Given the description of an element on the screen output the (x, y) to click on. 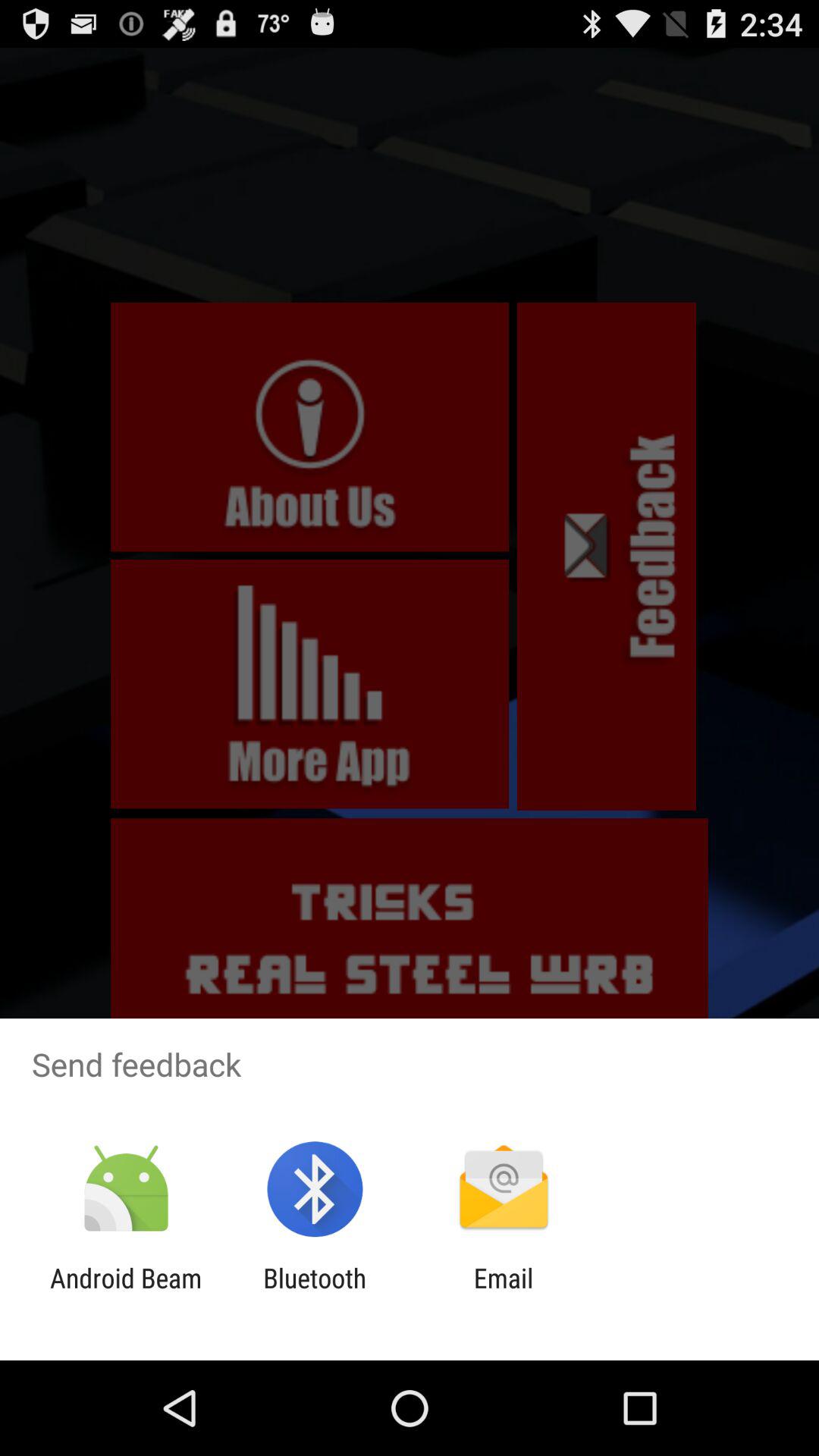
choose icon next to bluetooth app (503, 1293)
